Given the description of an element on the screen output the (x, y) to click on. 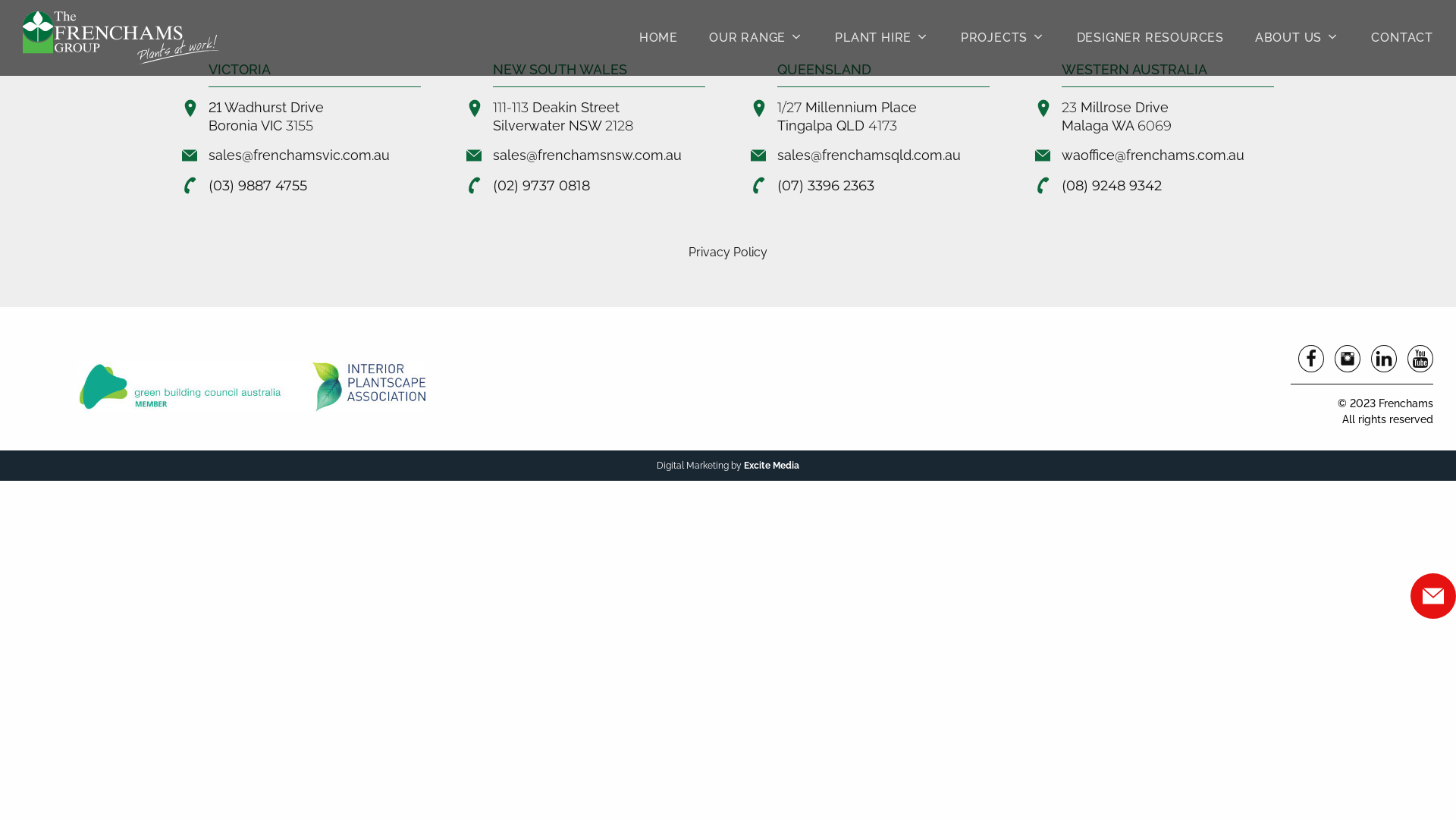
Excite Media Element type: text (771, 465)
OUR RANGE Element type: text (756, 37)
(07) 3396 2363 Element type: text (825, 185)
CONTACT Element type: text (1394, 37)
111-113 Deakin Street
Silverwater NSW 2128 Element type: text (562, 116)
(03) 9887 4755 Element type: text (257, 185)
QUEENSLAND Element type: text (824, 69)
1/27 Millennium Place
Tingalpa QLD 4173 Element type: text (846, 116)
DESIGNER RESOURCES Element type: text (1149, 37)
23 Millrose Drive
Malaga WA 6069 Element type: text (1116, 116)
sales@frenchamsqld.com.au Element type: text (868, 155)
sales@frenchamsvic.com.au Element type: text (298, 155)
PLANT HIRE Element type: text (881, 37)
WESTERN AUSTRALIA Element type: text (1134, 69)
(02) 9737 0818 Element type: text (540, 185)
PROJECTS Element type: text (1002, 37)
NEW SOUTH WALES Element type: text (559, 69)
ABOUT US Element type: text (1297, 37)
Privacy Policy Element type: text (727, 251)
VICTORIA Element type: text (239, 69)
sales@frenchamsnsw.com.au Element type: text (586, 155)
waoffice@frenchams.com.au Element type: text (1152, 155)
HOME Element type: text (658, 37)
21 Wadhurst Drive
Boronia VIC 3155 Element type: text (265, 116)
(08) 9248 9342 Element type: text (1111, 185)
